Given the description of an element on the screen output the (x, y) to click on. 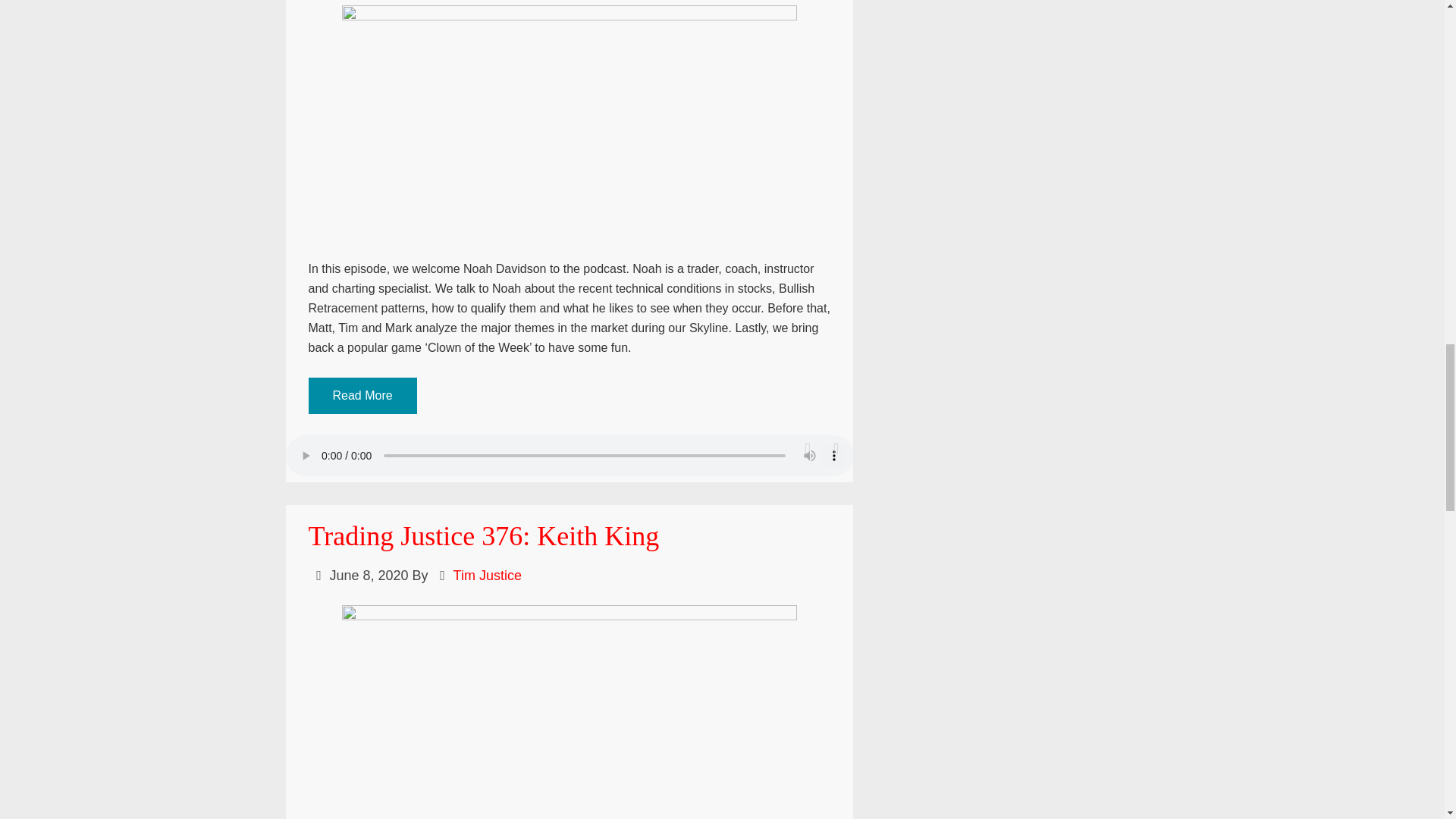
Read More (361, 395)
Play in New Window (807, 448)
Tim Justice (486, 575)
Read More (361, 395)
Trading Justice 376: Keith King (483, 535)
Download (836, 448)
